Given the description of an element on the screen output the (x, y) to click on. 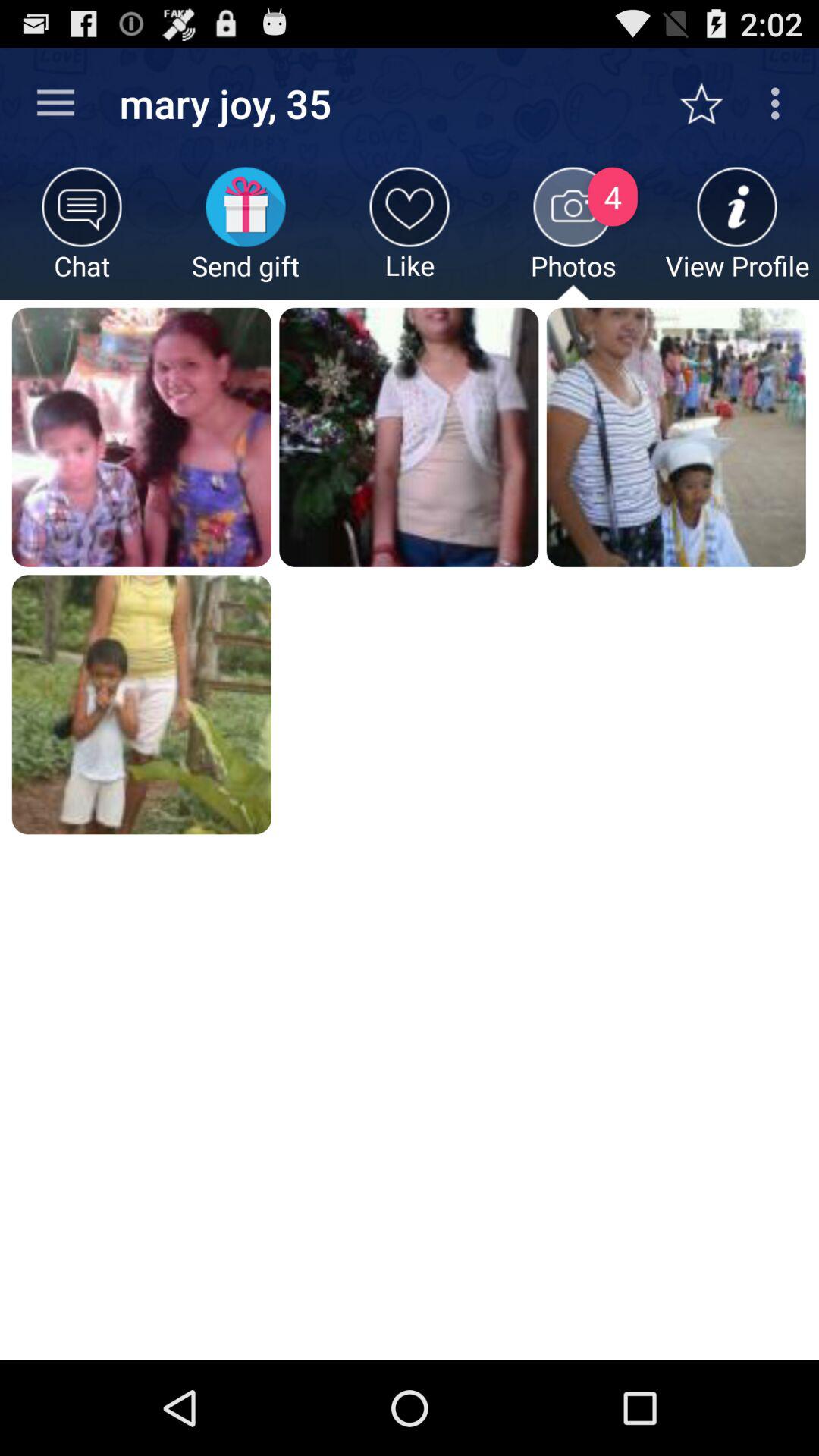
choose the item to the right of like icon (573, 233)
